Given the description of an element on the screen output the (x, y) to click on. 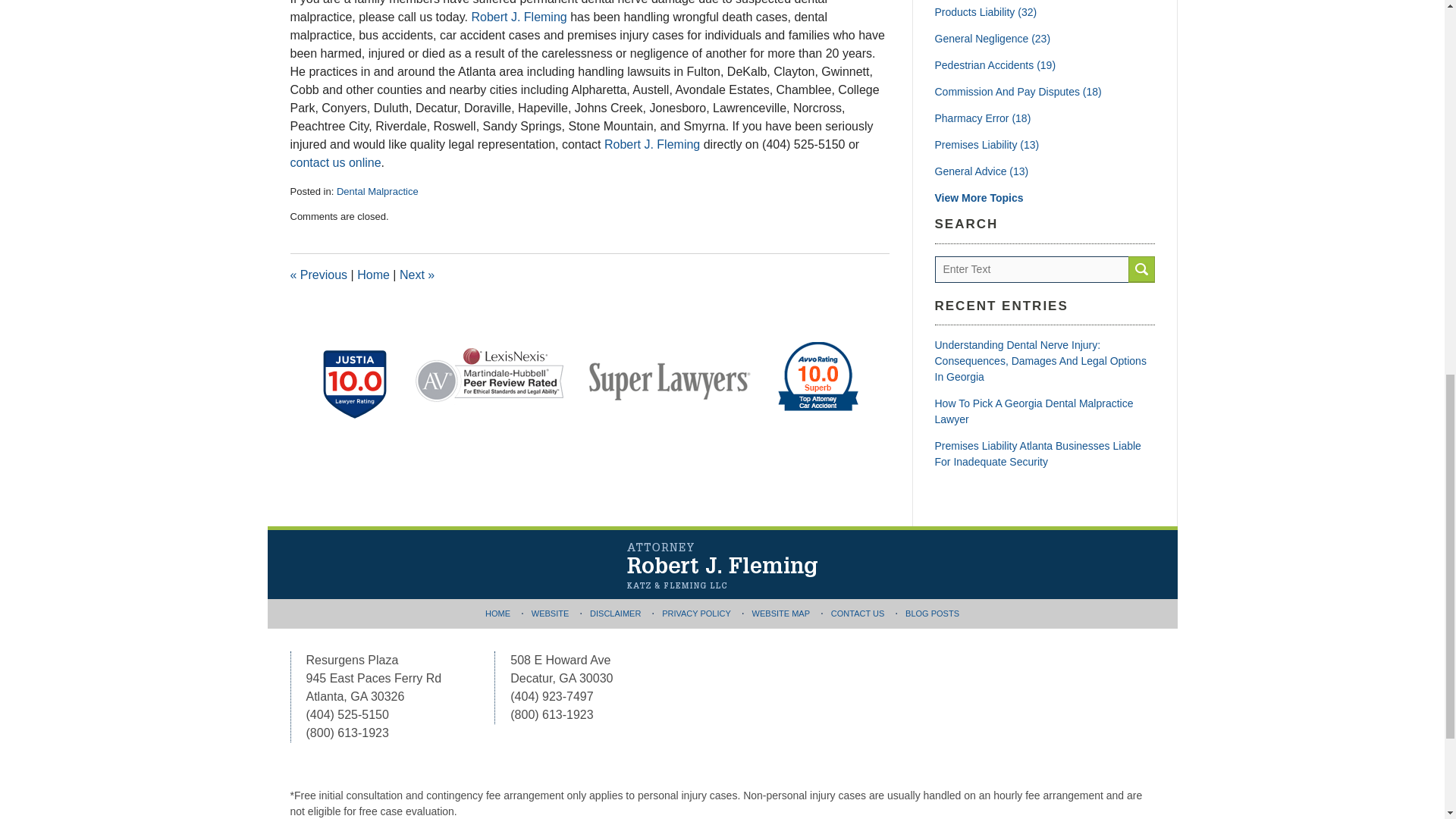
Robert J. Fleming (518, 16)
Robert J. Fleming (652, 144)
Dental Malpractice (377, 191)
View all posts in Dental Malpractice (377, 191)
contact us online (334, 162)
Home (373, 274)
